Given the description of an element on the screen output the (x, y) to click on. 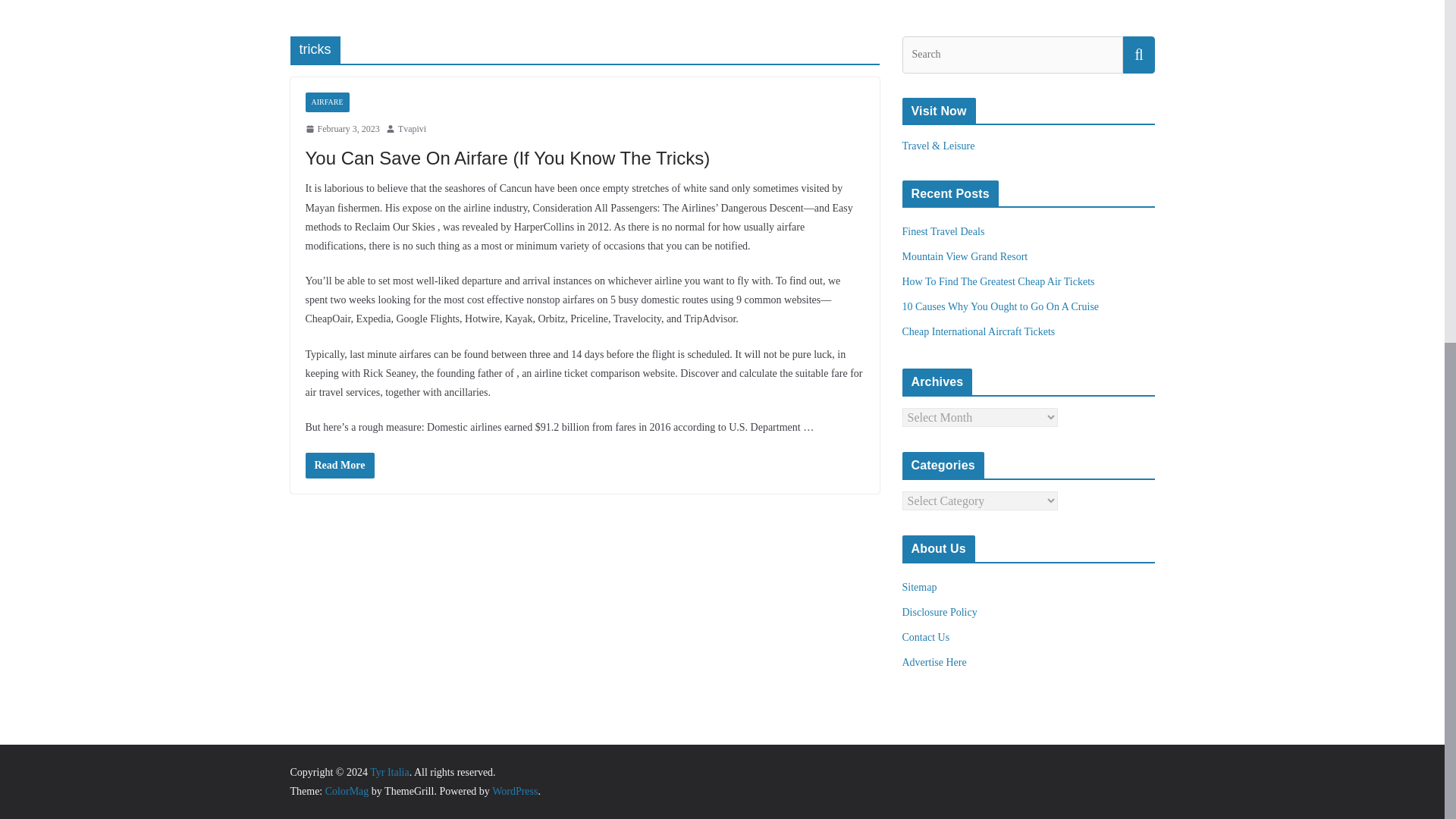
Tvapivi (411, 129)
ColorMag (346, 790)
5:27 pm (341, 129)
WordPress (514, 790)
February 3, 2023 (341, 129)
Tvapivi (411, 129)
AIRFARE (326, 102)
Tyr Italia (389, 772)
